Given the description of an element on the screen output the (x, y) to click on. 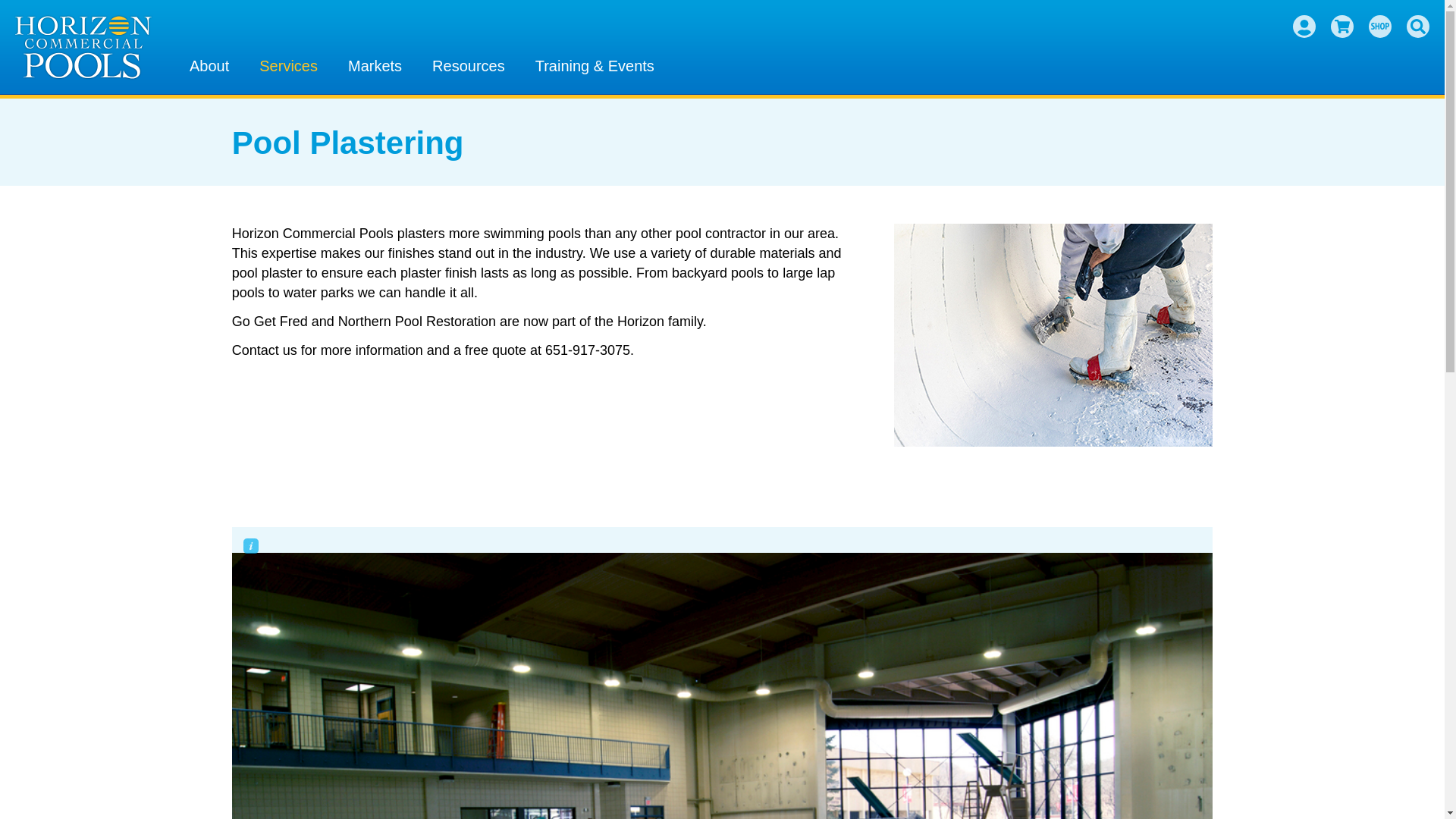
Markets (374, 62)
Horizon Commercial Pools Logo (83, 47)
About (208, 62)
Services (288, 62)
Resources (468, 62)
Go (1409, 58)
